Given the description of an element on the screen output the (x, y) to click on. 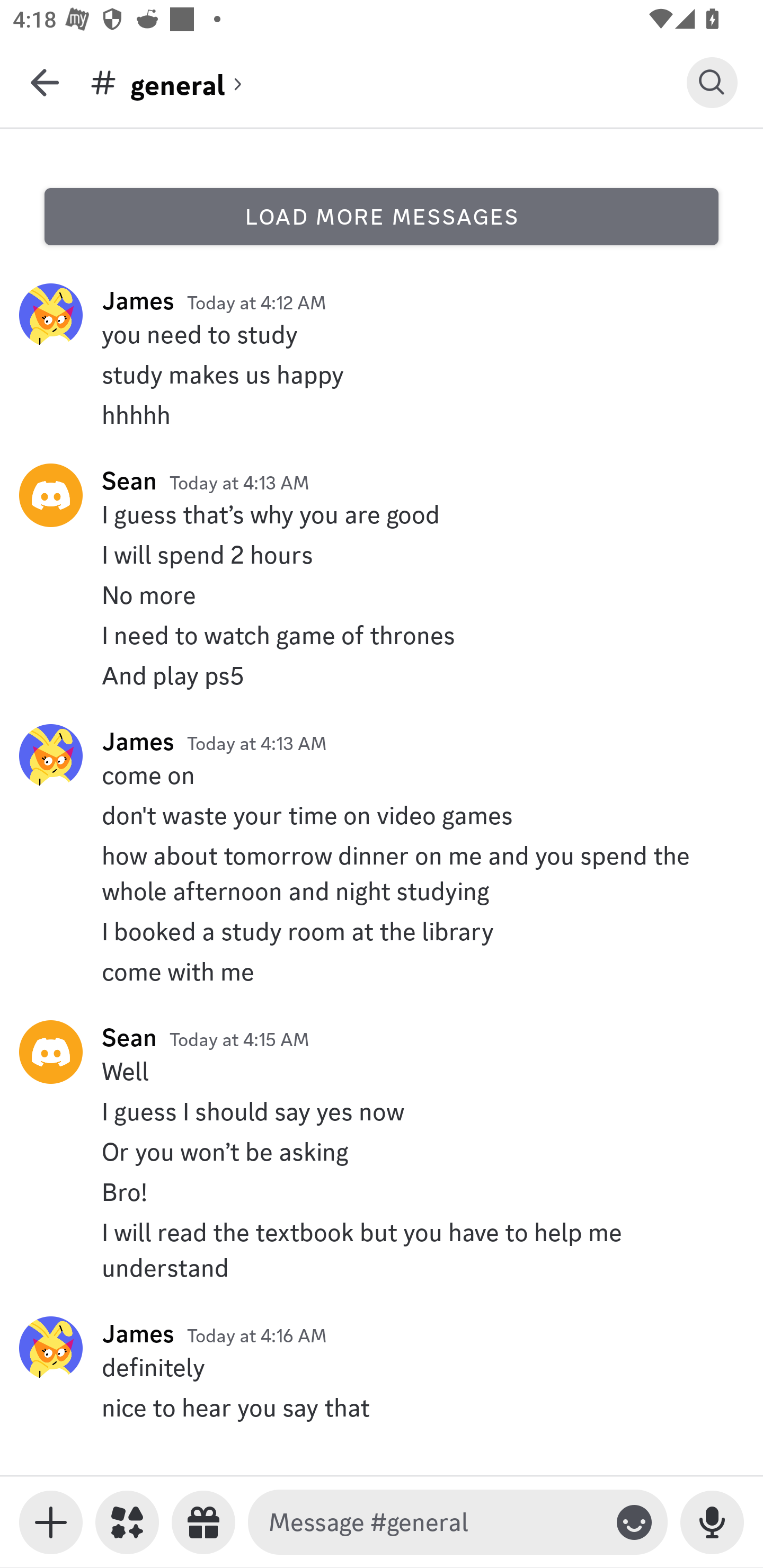
general (channel) general general (channel) (387, 82)
Back (44, 82)
Search (711, 82)
LOAD MORE MESSAGES (381, 216)
James (137, 299)
ssseannn007., hhhhh hhhhh (381, 414)
Sean (129, 480)
yuxiang.007, No more No more (381, 594)
yuxiang.007, And play ps5 And play ps5 (381, 675)
James (137, 740)
ssseannn007., come with me come with me (381, 970)
Sean (129, 1036)
yuxiang.007, Bro! Bro! (381, 1191)
James (137, 1333)
Toggle media keyboard (50, 1522)
Apps (126, 1522)
Send a gift (203, 1522)
Record Voice Message (711, 1522)
Message #general (433, 1522)
Toggle emoji keyboard (634, 1522)
